Given the description of an element on the screen output the (x, y) to click on. 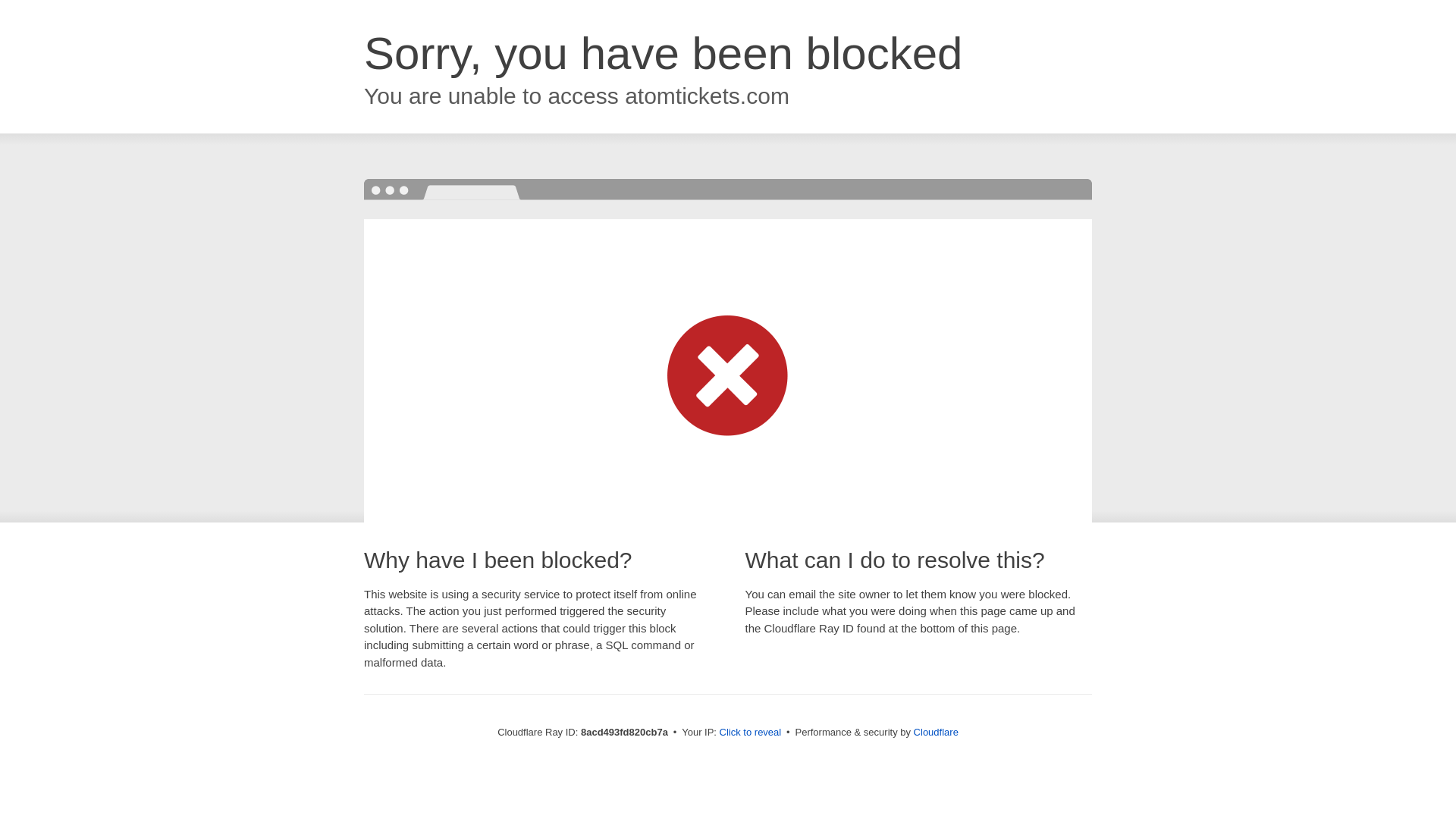
Cloudflare (936, 731)
Click to reveal (750, 732)
